Given the description of an element on the screen output the (x, y) to click on. 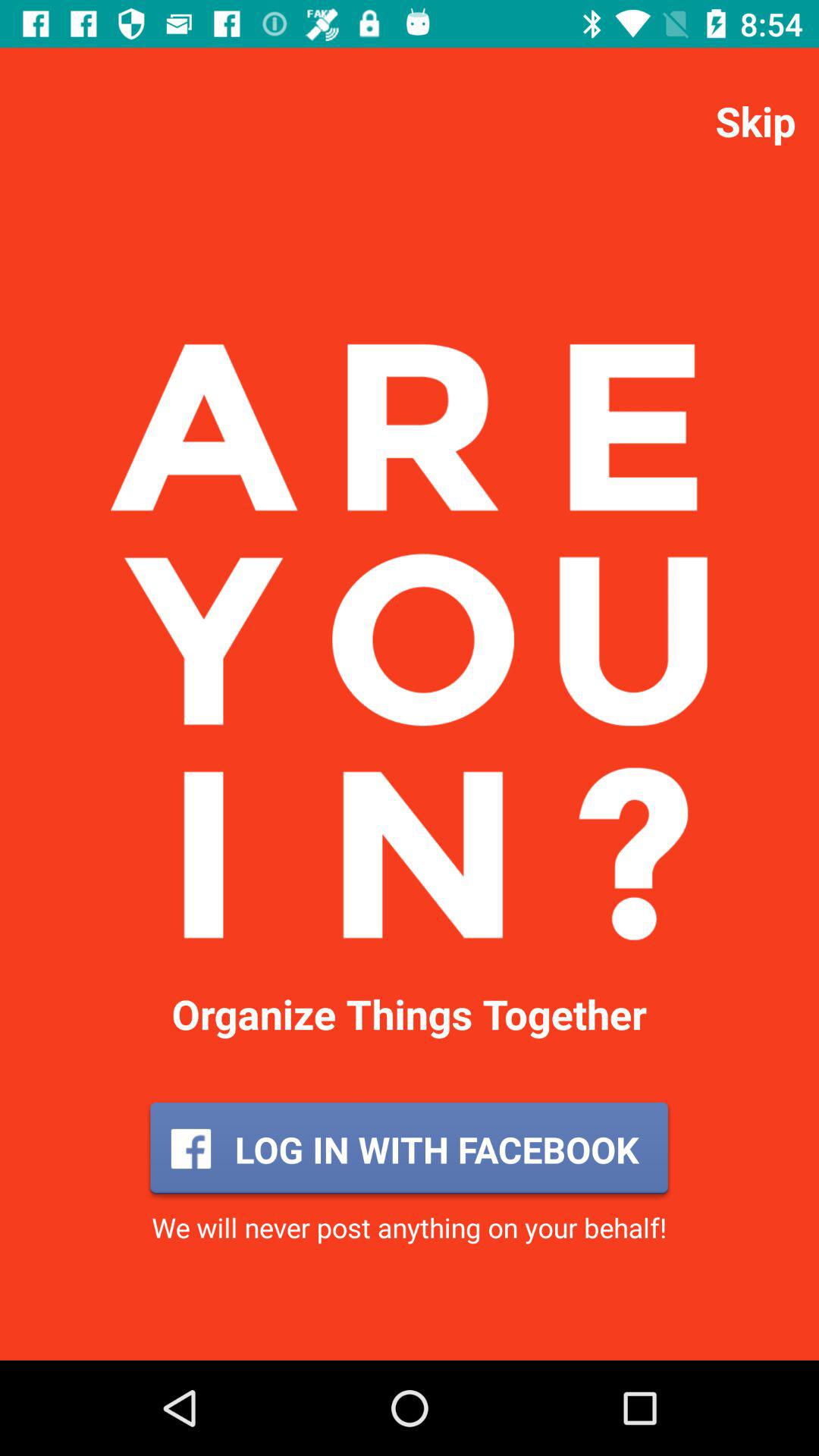
click icon above the we will never app (409, 1148)
